Given the description of an element on the screen output the (x, y) to click on. 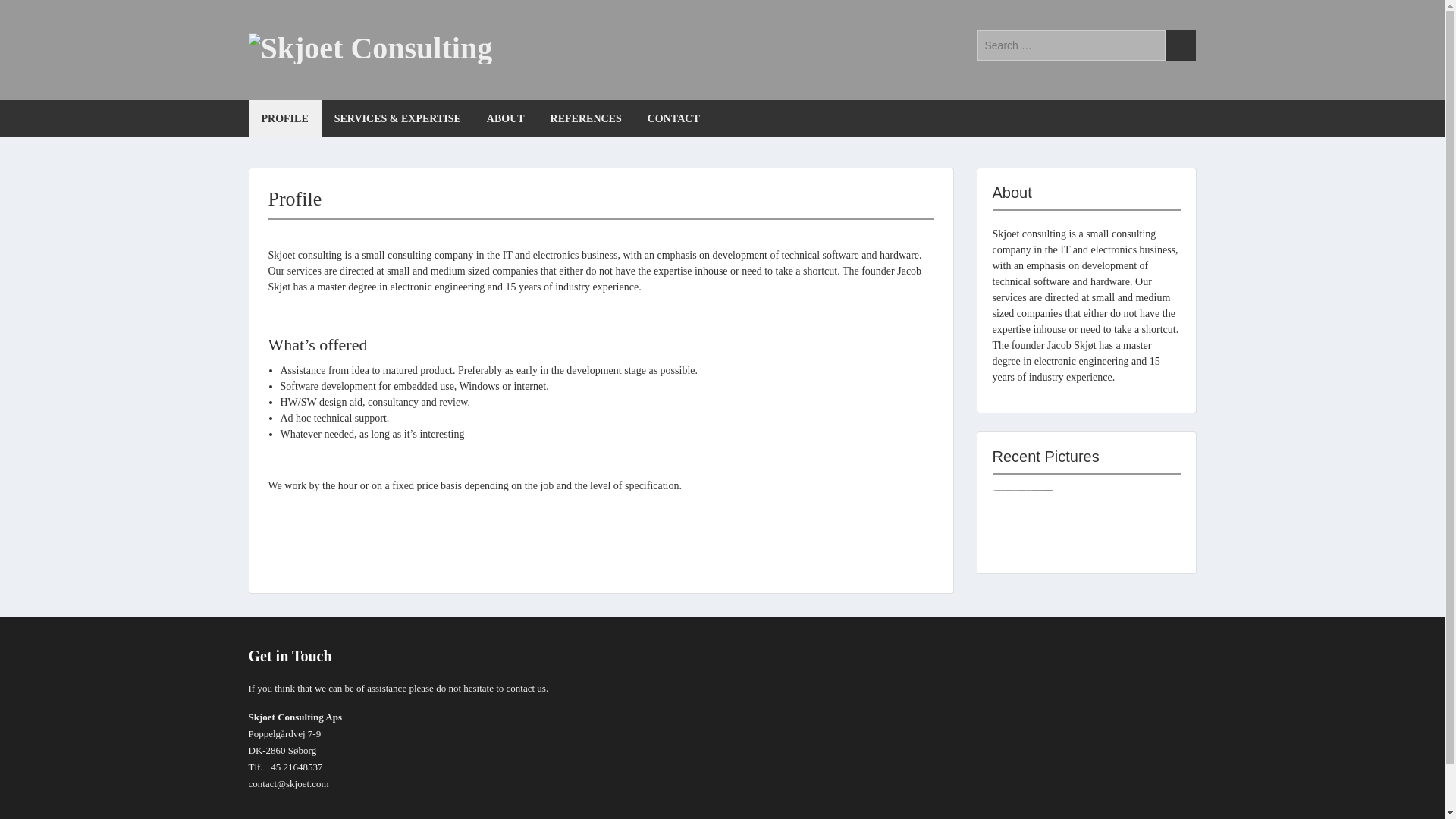
Search (1180, 45)
ABOUT (505, 118)
CONTACT (673, 118)
REFERENCES (585, 118)
PROFILE (284, 118)
Search (1180, 45)
Search for: (1071, 45)
